Given the description of an element on the screen output the (x, y) to click on. 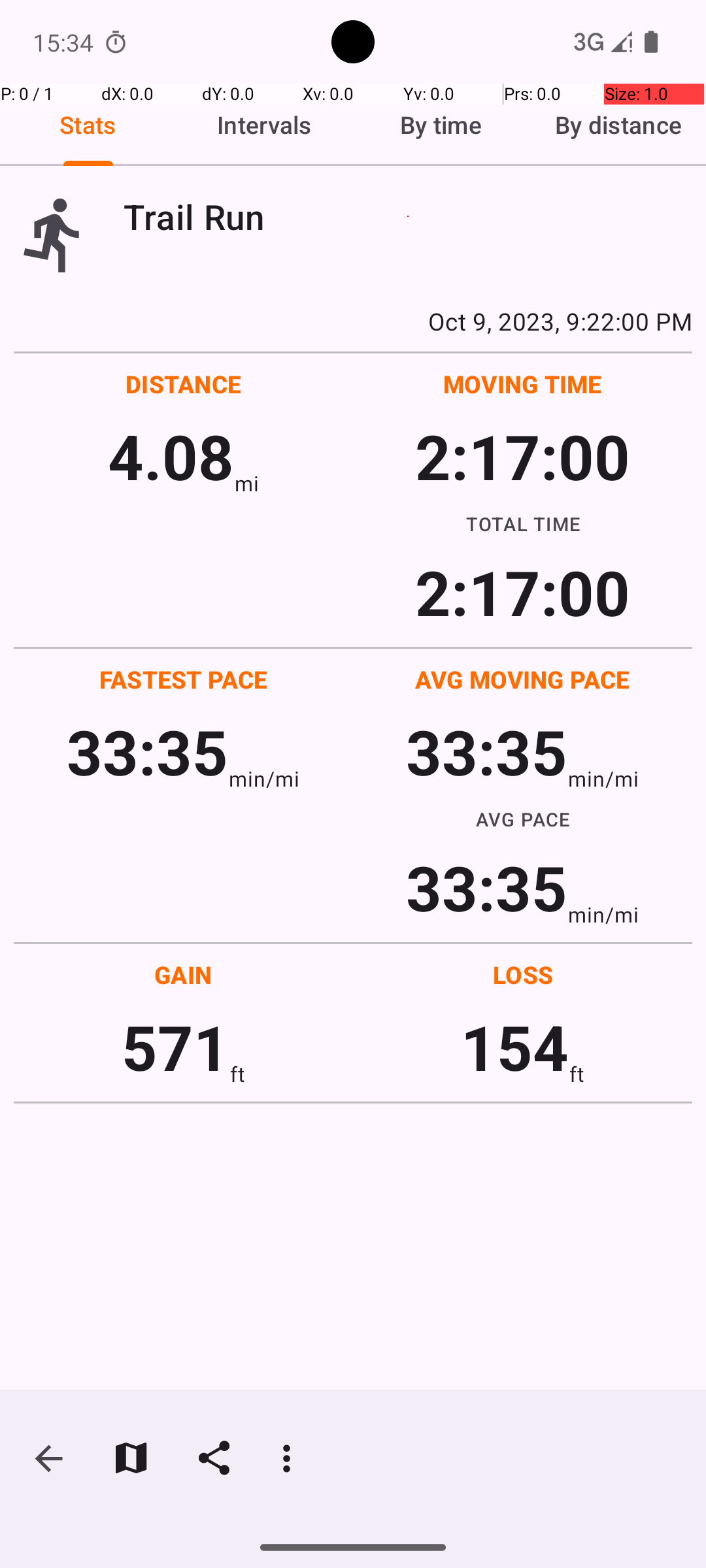
Trail Run Element type: android.widget.TextView (407, 216)
Oct 9, 2023, 9:22:00 PM Element type: android.widget.TextView (352, 320)
4.08 Element type: android.widget.TextView (170, 455)
2:17:00 Element type: android.widget.TextView (522, 455)
33:35 Element type: android.widget.TextView (147, 750)
571 Element type: android.widget.TextView (175, 1045)
154 Element type: android.widget.TextView (514, 1045)
